Given the description of an element on the screen output the (x, y) to click on. 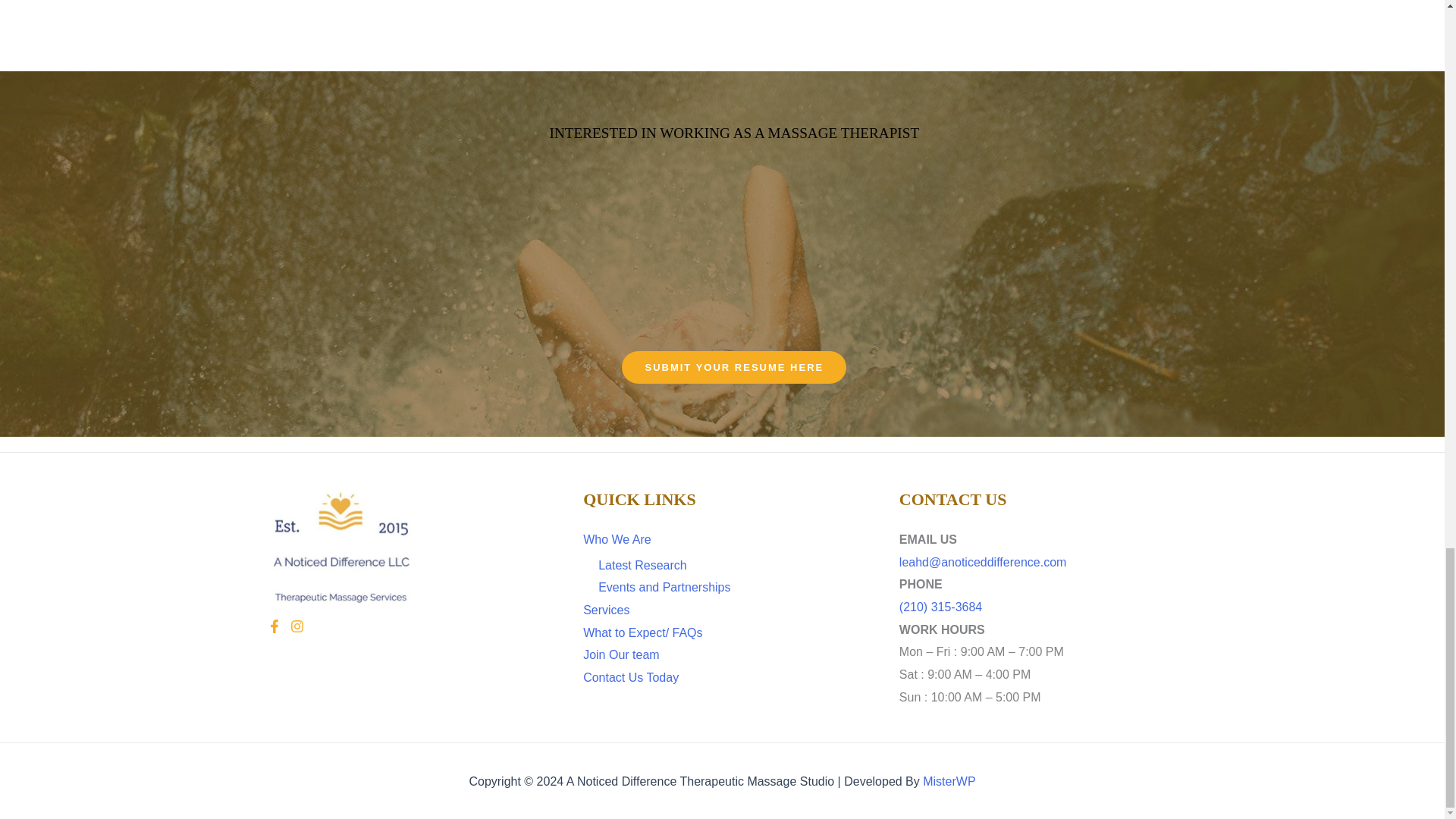
SUBMIT YOUR RESUME HERE (733, 367)
MisterWP (949, 780)
Services (605, 609)
Events and Partnerships (664, 586)
Join Our team (621, 654)
Contact Us Today (630, 676)
Latest Research (642, 564)
Who We Are (616, 539)
